Given the description of an element on the screen output the (x, y) to click on. 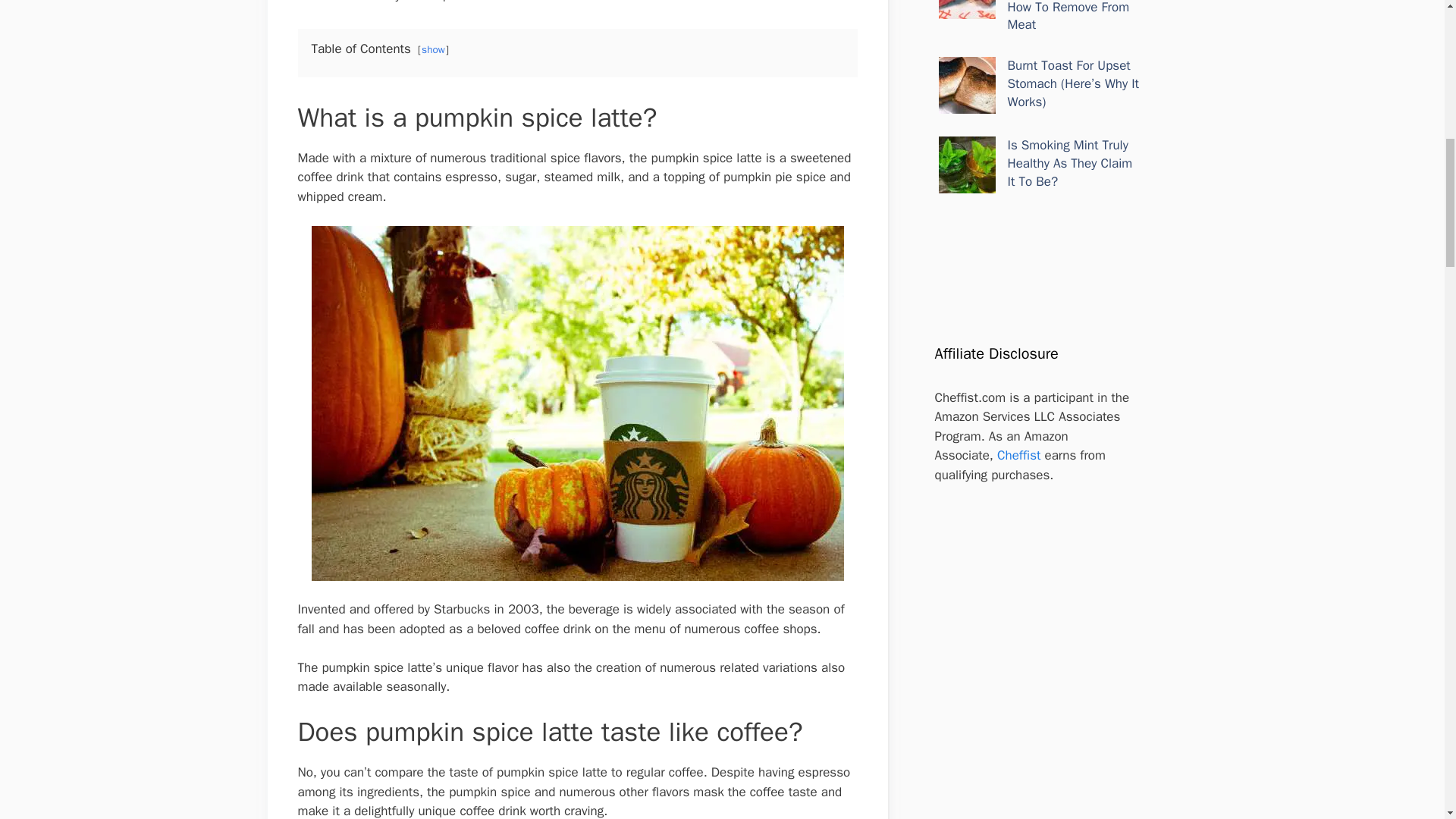
show (433, 49)
